Given the description of an element on the screen output the (x, y) to click on. 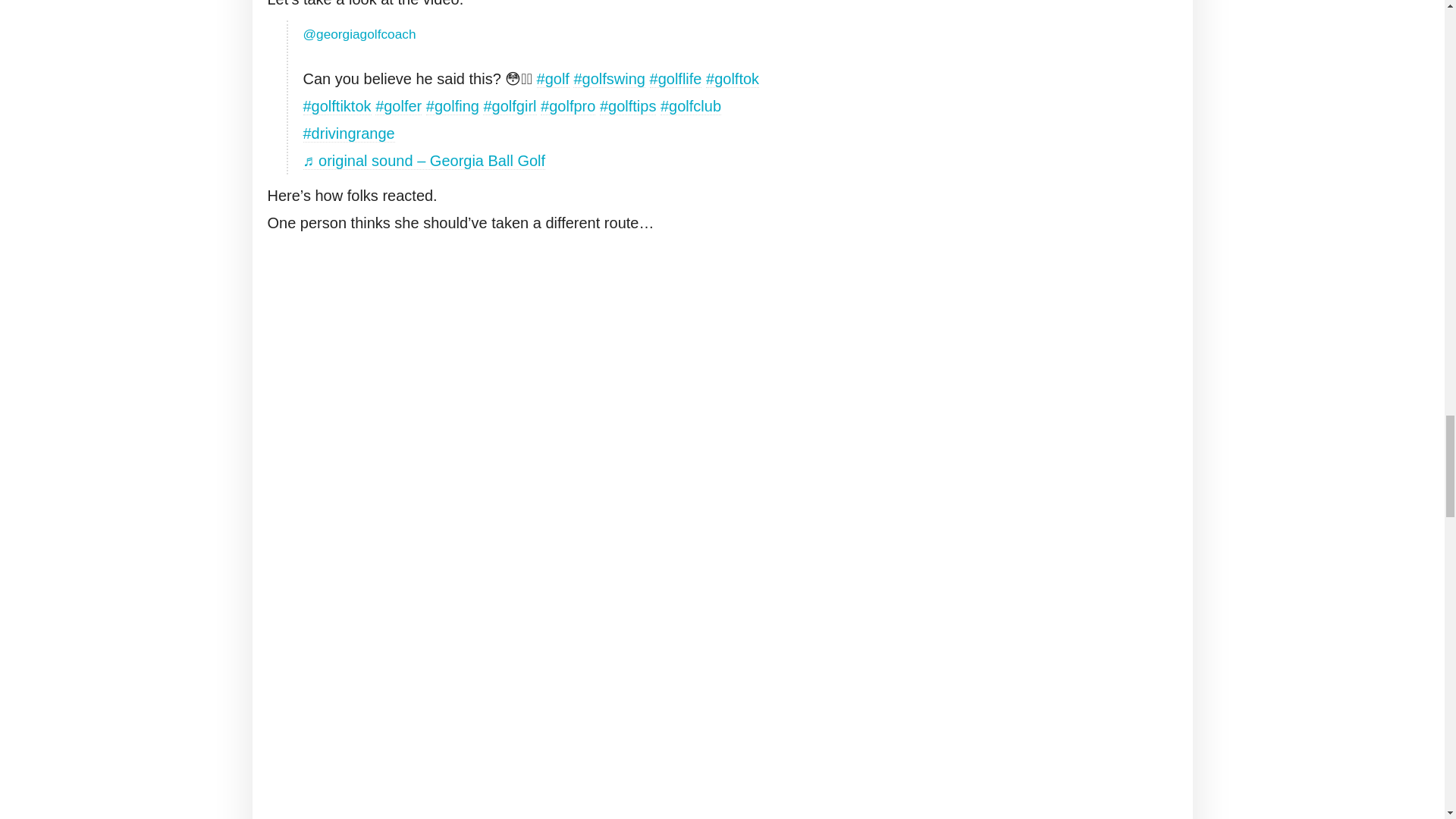
golflife (675, 78)
golf (553, 78)
golfer (398, 106)
golfing (452, 106)
golftips (627, 106)
golftiktok (336, 106)
golftok (732, 78)
golfclub (690, 106)
golfswing (609, 78)
golfpro (567, 106)
